Given the description of an element on the screen output the (x, y) to click on. 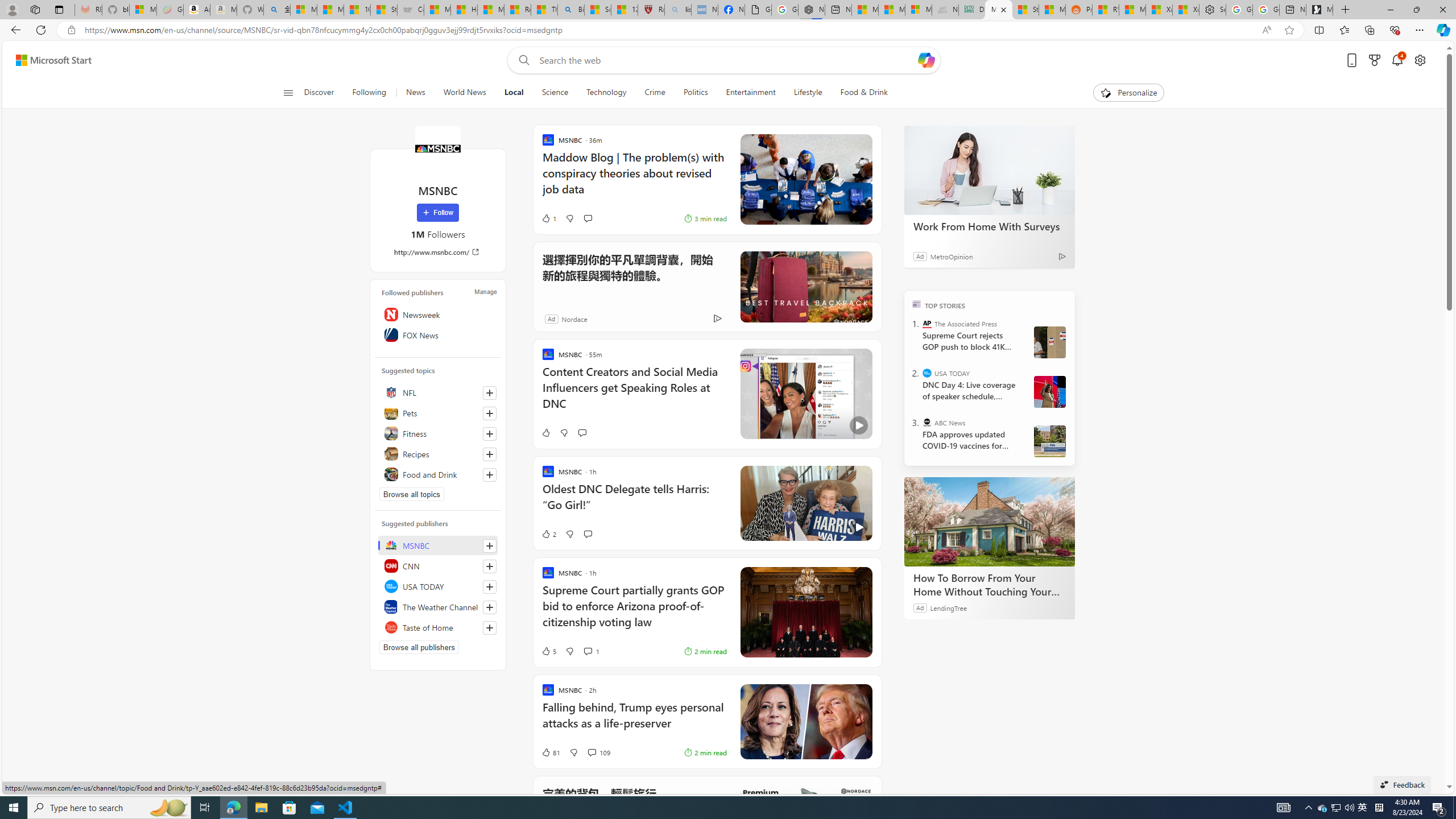
Follow this source (489, 627)
Food and Drink (437, 474)
